Given the description of an element on the screen output the (x, y) to click on. 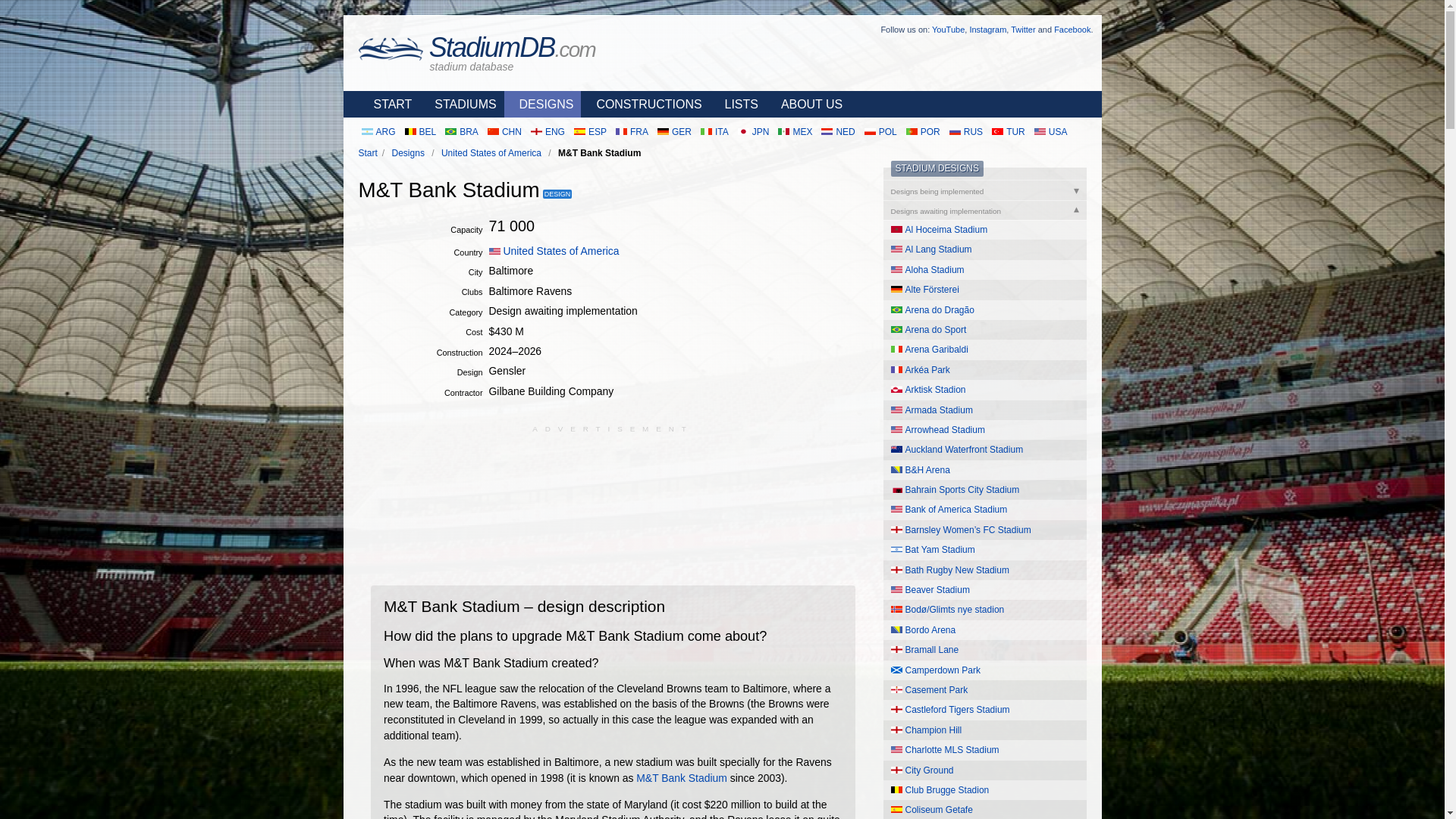
MEX (794, 131)
BEL (420, 131)
United States of America (552, 250)
TUR (1007, 131)
START (388, 103)
Start (367, 153)
ENG (547, 131)
ARG (377, 131)
YouTube (947, 29)
Advertisement (612, 498)
